Given the description of an element on the screen output the (x, y) to click on. 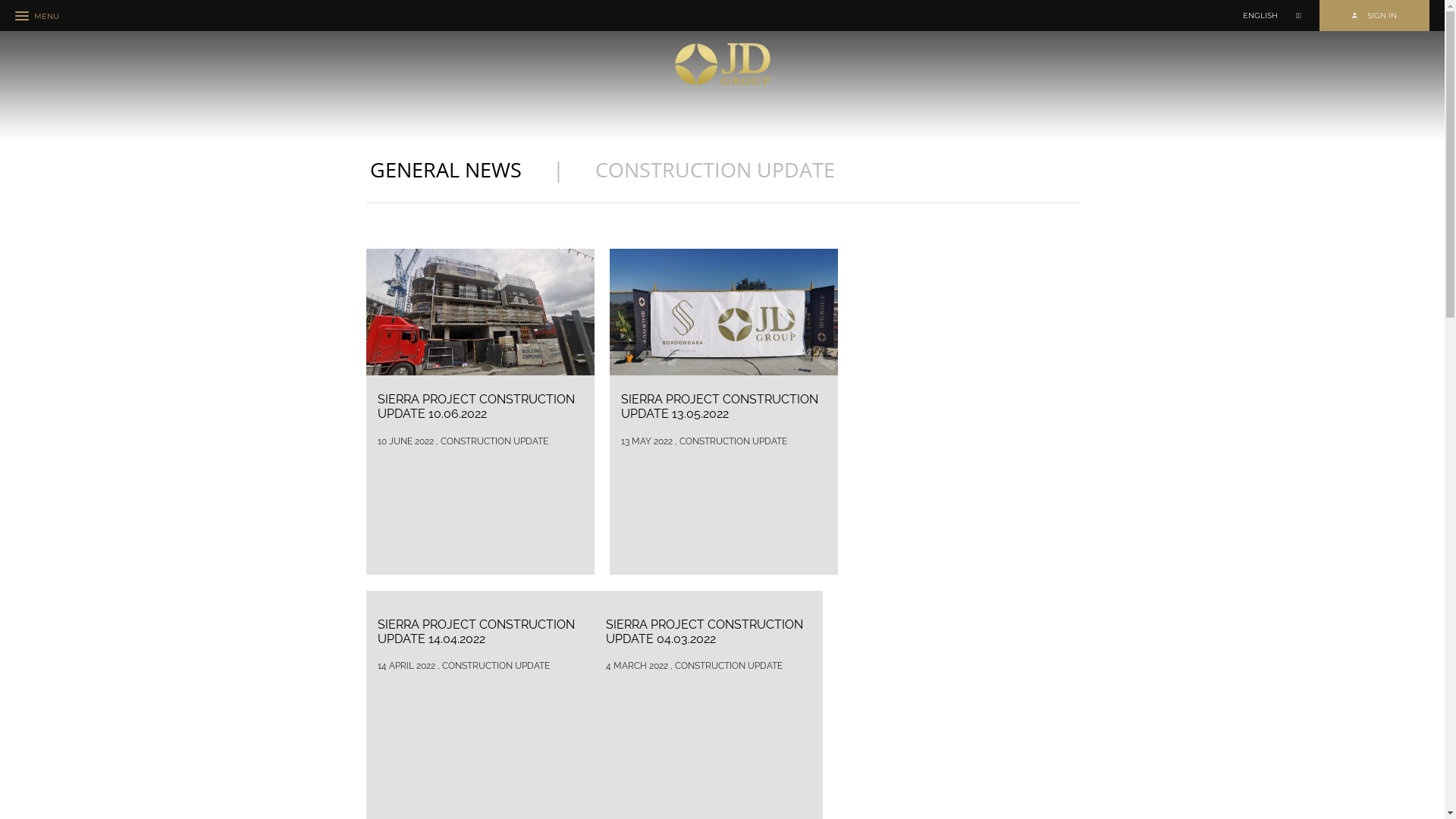
SIERRA PROJECT CONSTRUCTION UPDATE 04.03.2022 Element type: text (707, 639)
ENGLISH Element type: text (1259, 15)
MENU Element type: text (35, 16)
SIGN IN Element type: text (1374, 15)
SIERRA PROJECT CONSTRUCTION UPDATE 14.04.2022 Element type: text (480, 639)
GENERAL NEWS Element type: text (445, 169)
CONSTRUCTION UPDATE Element type: text (714, 169)
| Element type: text (557, 169)
SIERRA PROJECT CONSTRUCTION UPDATE 10.06.2022 Element type: text (480, 414)
Sign In Element type: text (1390, 54)
SIERRA PROJECT CONSTRUCTION UPDATE 13.05.2022 Element type: text (723, 414)
